Given the description of an element on the screen output the (x, y) to click on. 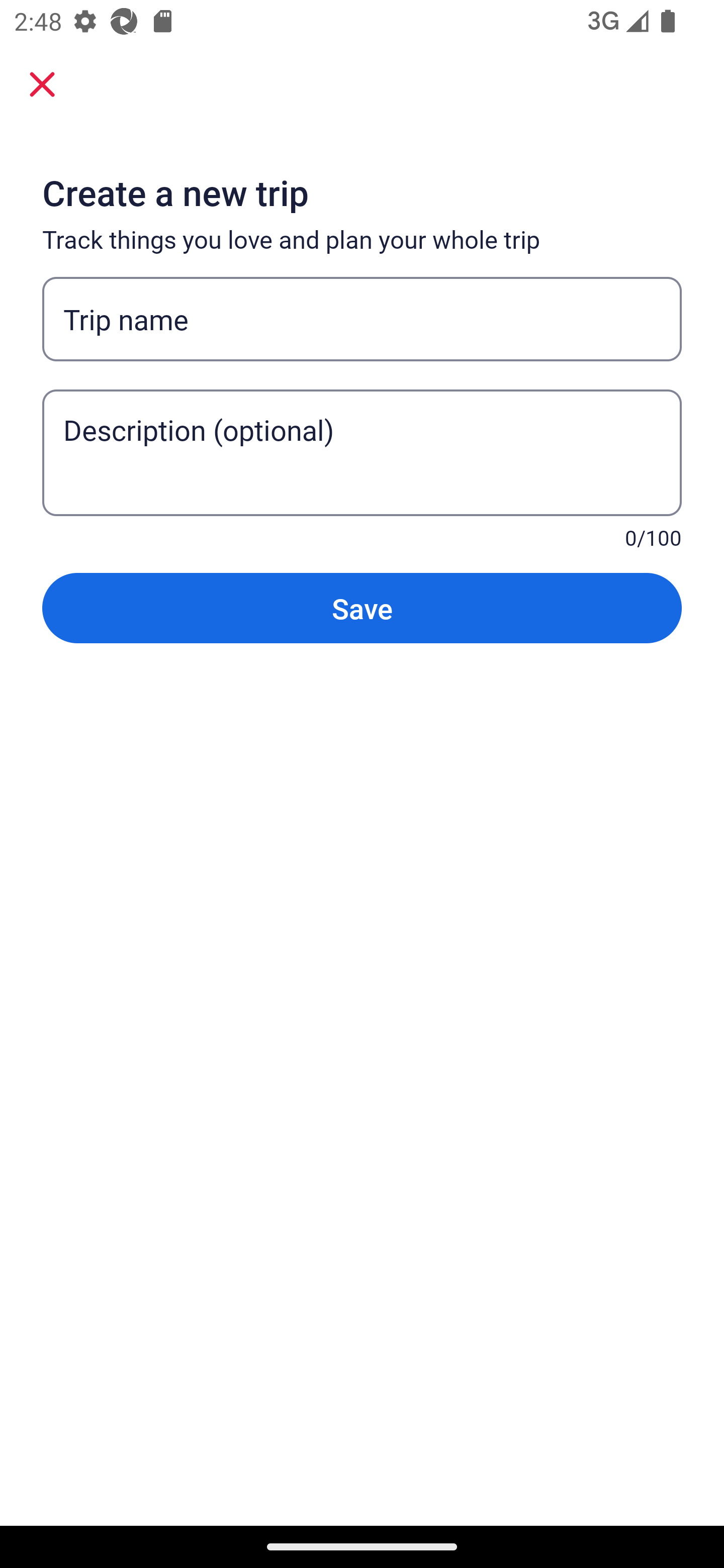
Close (41, 83)
Trip name (361, 318)
Save Button Save (361, 607)
